Given the description of an element on the screen output the (x, y) to click on. 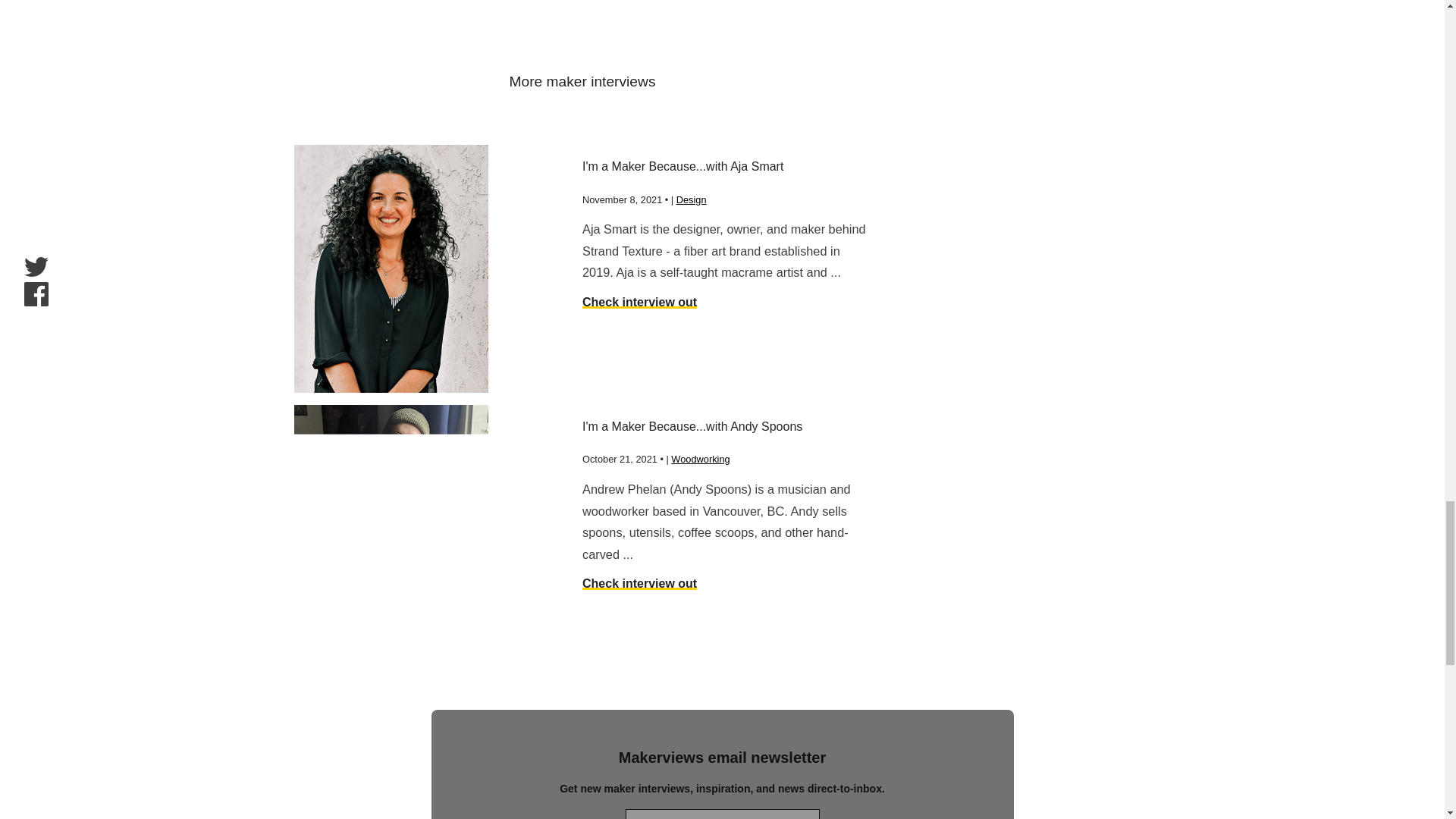
Design (691, 199)
I'm a Maker Because...with Aja Smart (727, 181)
Check interview out (639, 301)
